Given the description of an element on the screen output the (x, y) to click on. 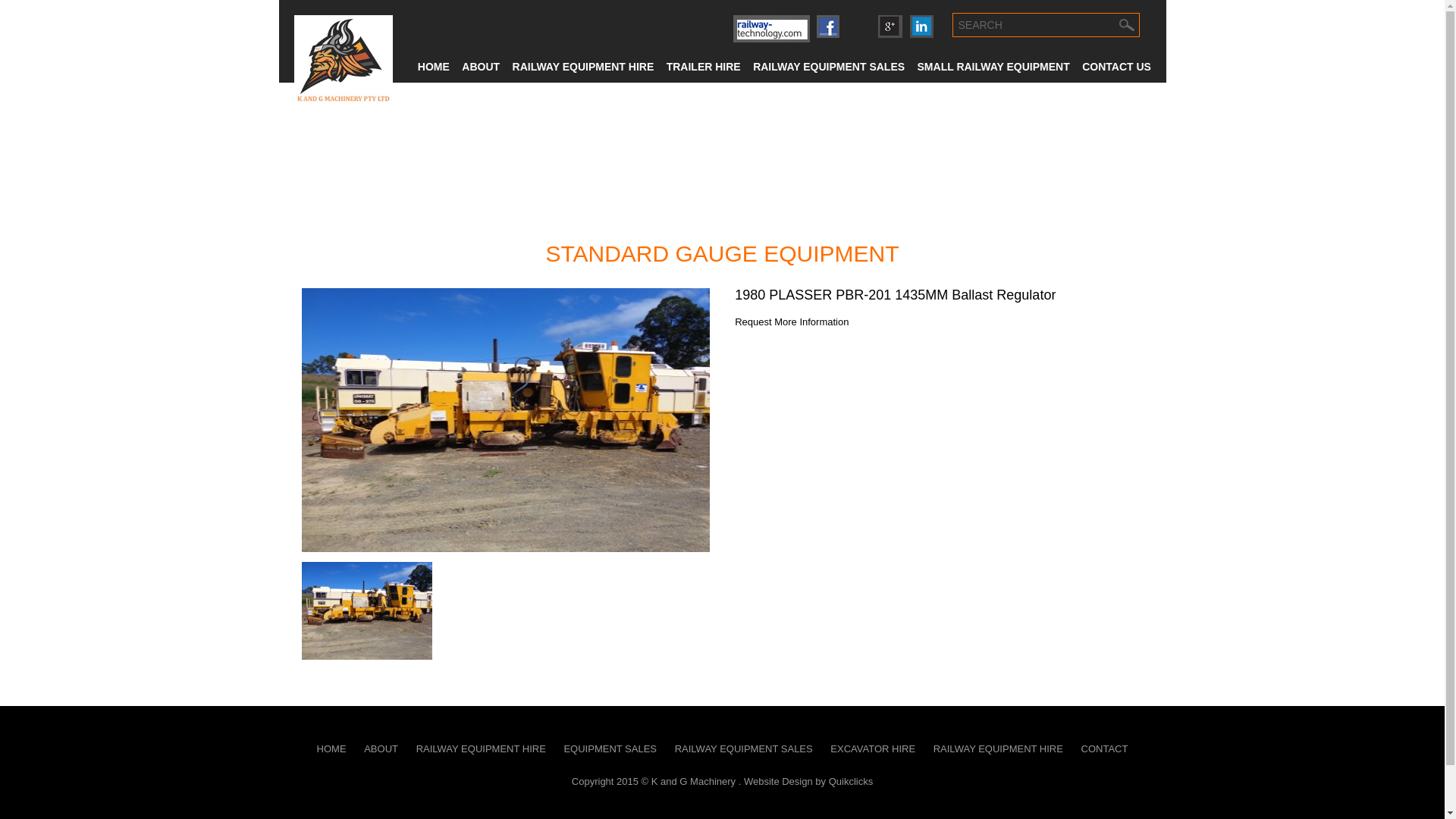
CONTACT US Element type: text (1116, 67)
HOME Element type: text (433, 67)
RAILWAY EQUIPMENT SALES Element type: text (828, 67)
ABOUT Element type: text (480, 67)
SMALL RAILWAY EQUIPMENT Element type: text (993, 67)
RAILWAY EQUIPMENT HIRE Element type: text (480, 748)
Submit Element type: text (1126, 24)
Quikclicks Element type: text (850, 781)
CONTACT Element type: text (1104, 748)
EXCAVATOR HIRE Element type: text (872, 748)
RAILWAY EQUIPMENT HIRE Element type: text (583, 67)
RAILWAY EQUIPMENT SALES Element type: text (743, 748)
ABOUT Element type: text (380, 748)
TRAILER HIRE Element type: text (703, 67)
RAILWAY EQUIPMENT HIRE Element type: text (997, 748)
EQUIPMENT SALES Element type: text (609, 748)
HOME Element type: text (331, 748)
